Given the description of an element on the screen output the (x, y) to click on. 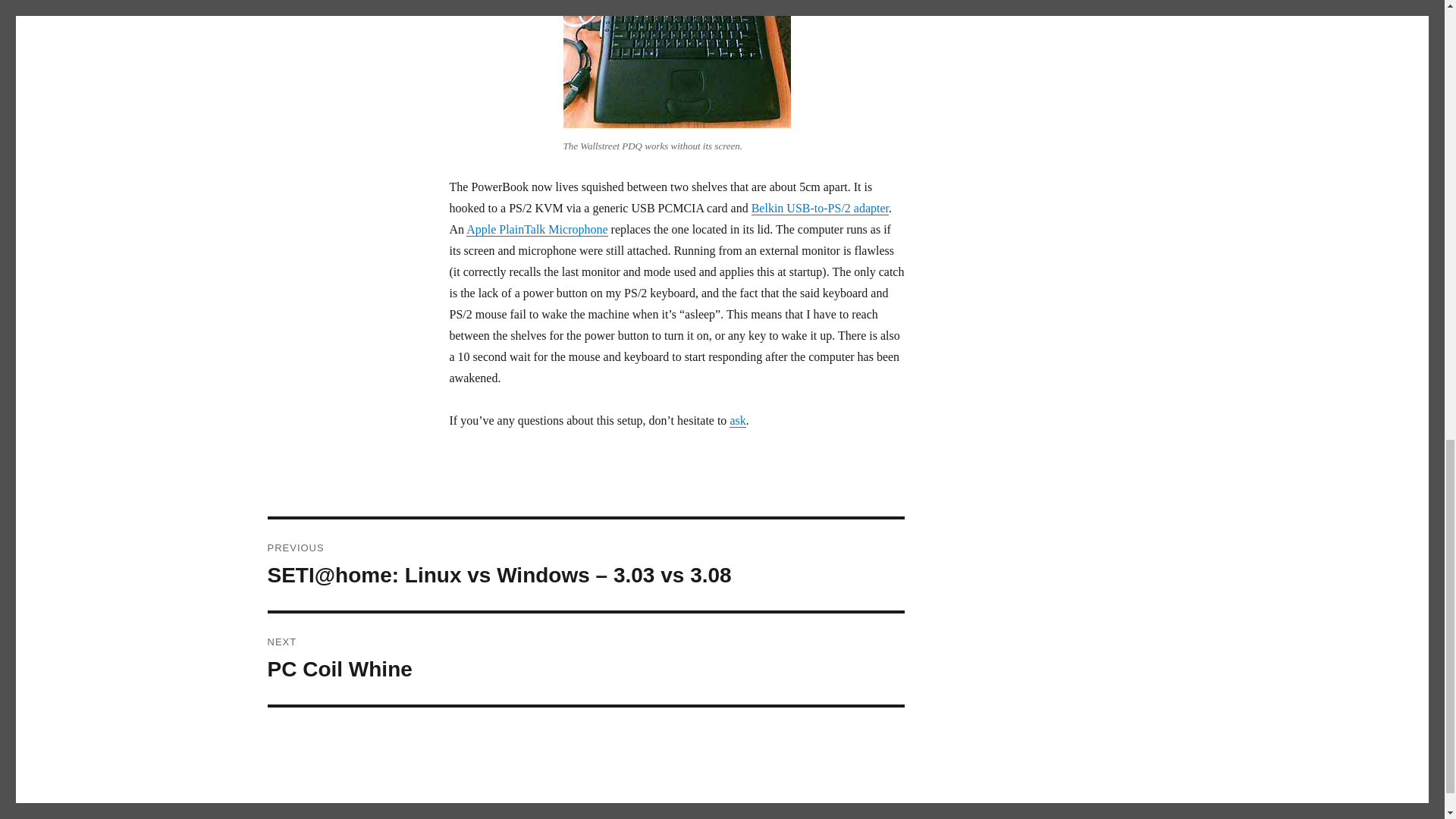
Apple PlainTalk Microphone (536, 228)
ask (585, 658)
